Given the description of an element on the screen output the (x, y) to click on. 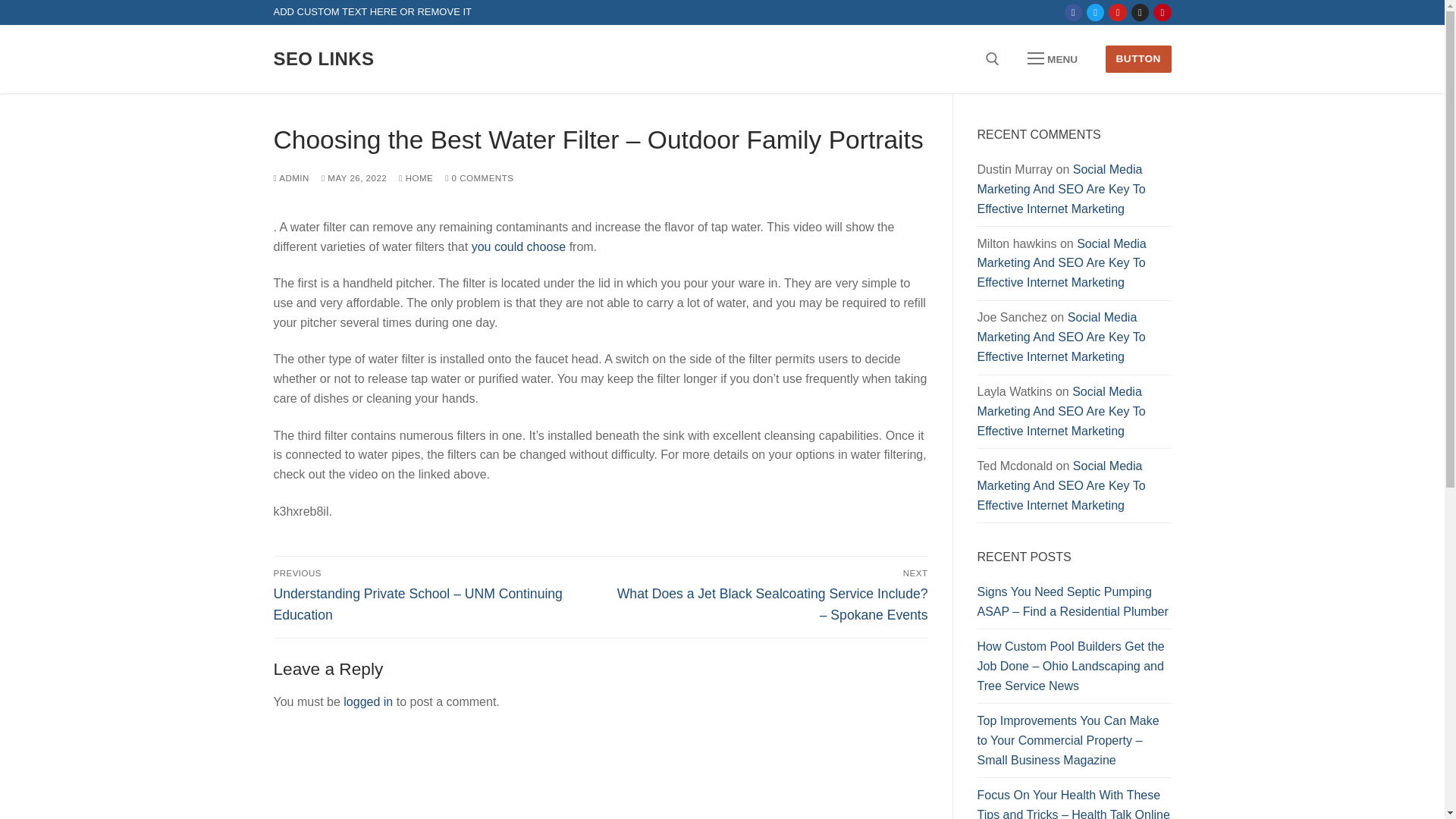
MENU (1052, 59)
Instagram (1139, 12)
HOME (415, 177)
BUTTON (1138, 59)
0 COMMENTS (479, 177)
you could choose (518, 245)
SEO LINKS (323, 58)
